Given the description of an element on the screen output the (x, y) to click on. 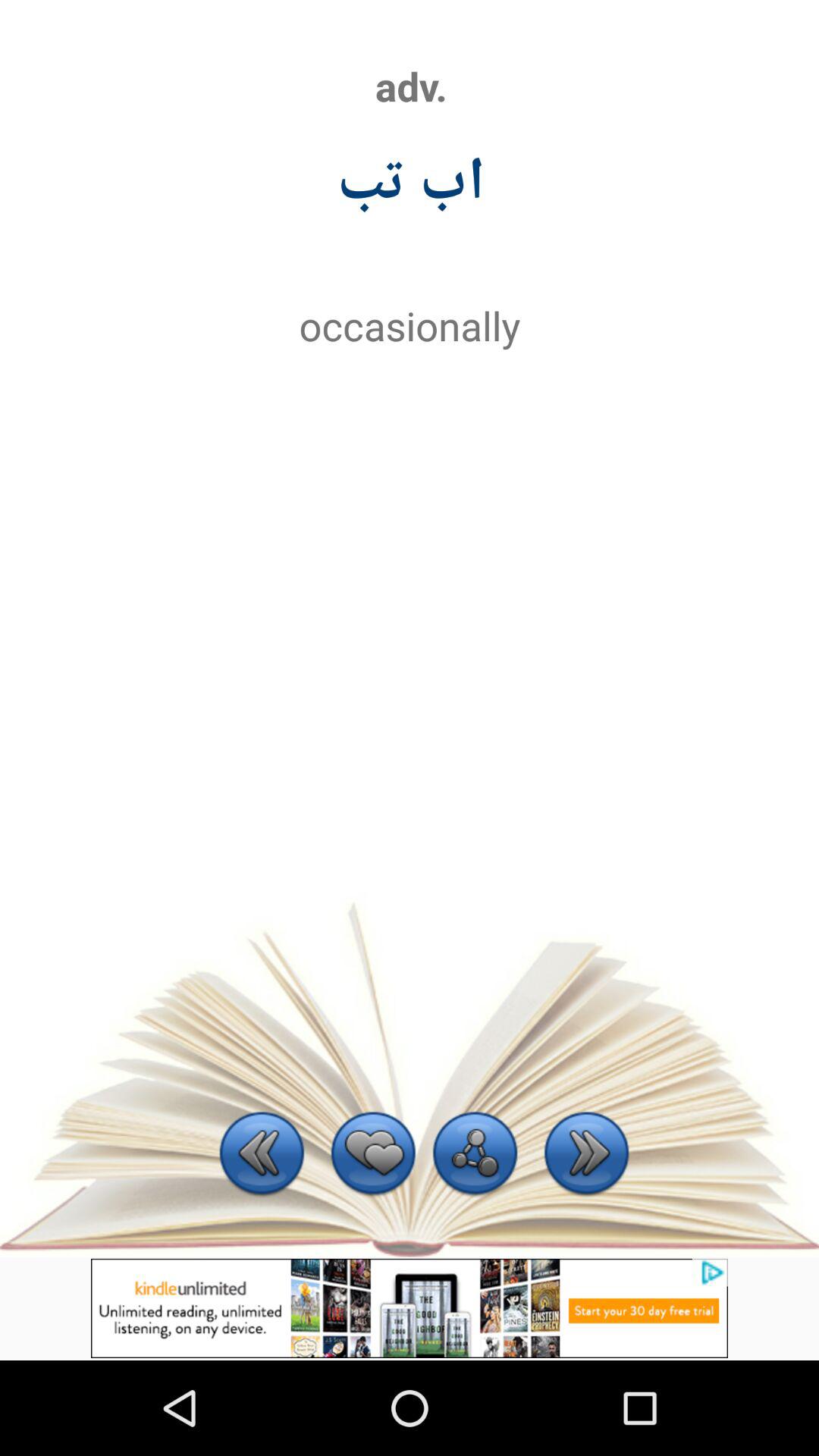
go back (261, 1155)
